Given the description of an element on the screen output the (x, y) to click on. 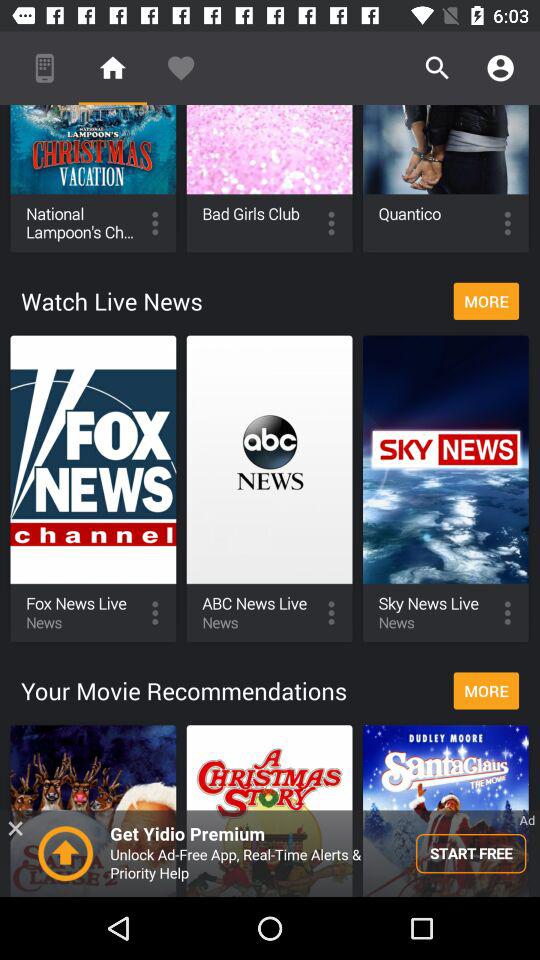
click on fox news live (93, 489)
click on the bad girls club option (269, 177)
select the picture which have sky news (445, 489)
click on the option which says a christmas story (269, 810)
click on the mobile option on the top left corner (44, 67)
select the third picture from the top which have text below quantico (445, 177)
click on home icon (112, 67)
